Given the description of an element on the screen output the (x, y) to click on. 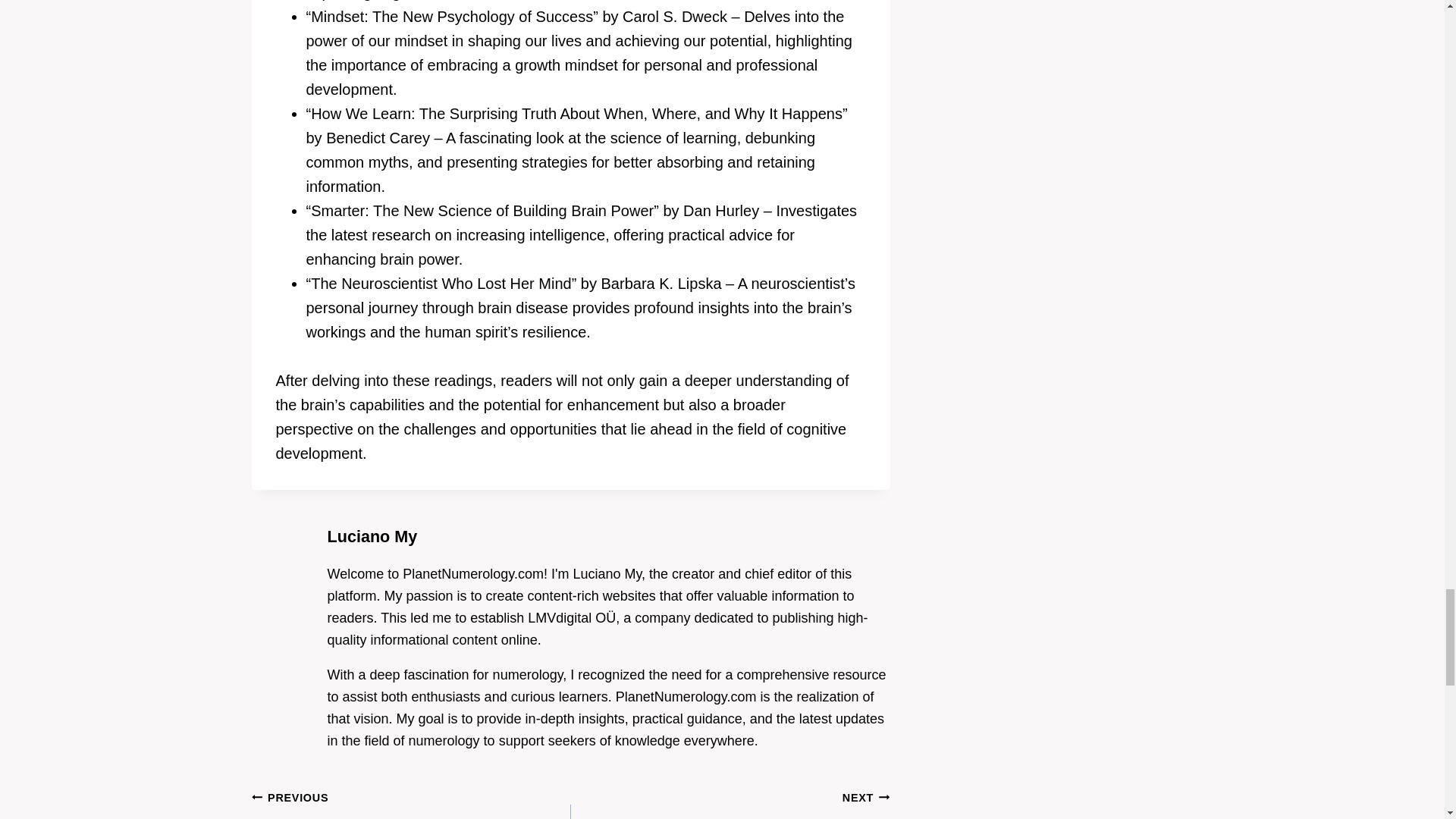
Luciano My (372, 536)
Posts by Luciano My (372, 536)
